Given the description of an element on the screen output the (x, y) to click on. 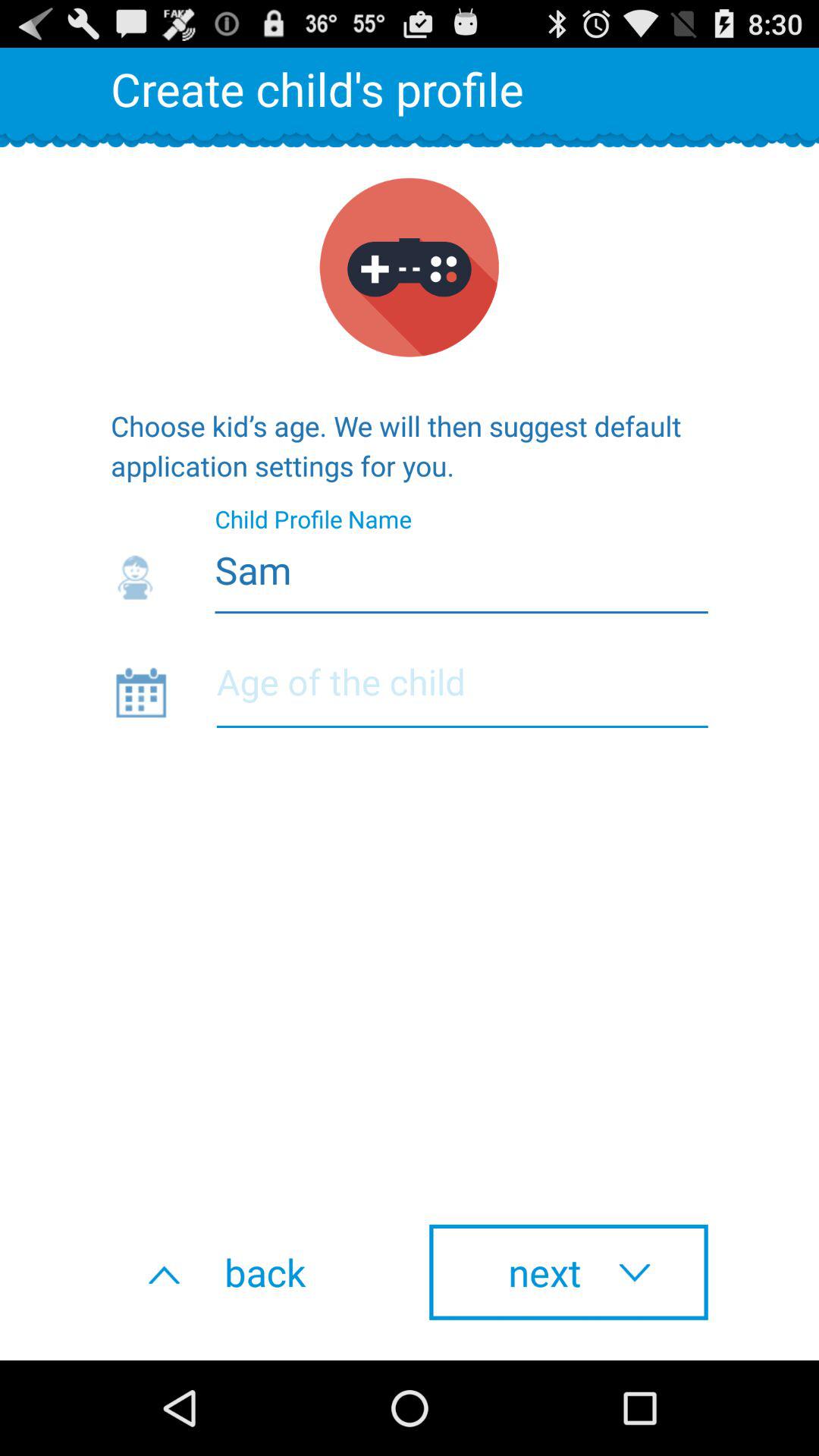
select the button to the right of back icon (568, 1272)
